Given the description of an element on the screen output the (x, y) to click on. 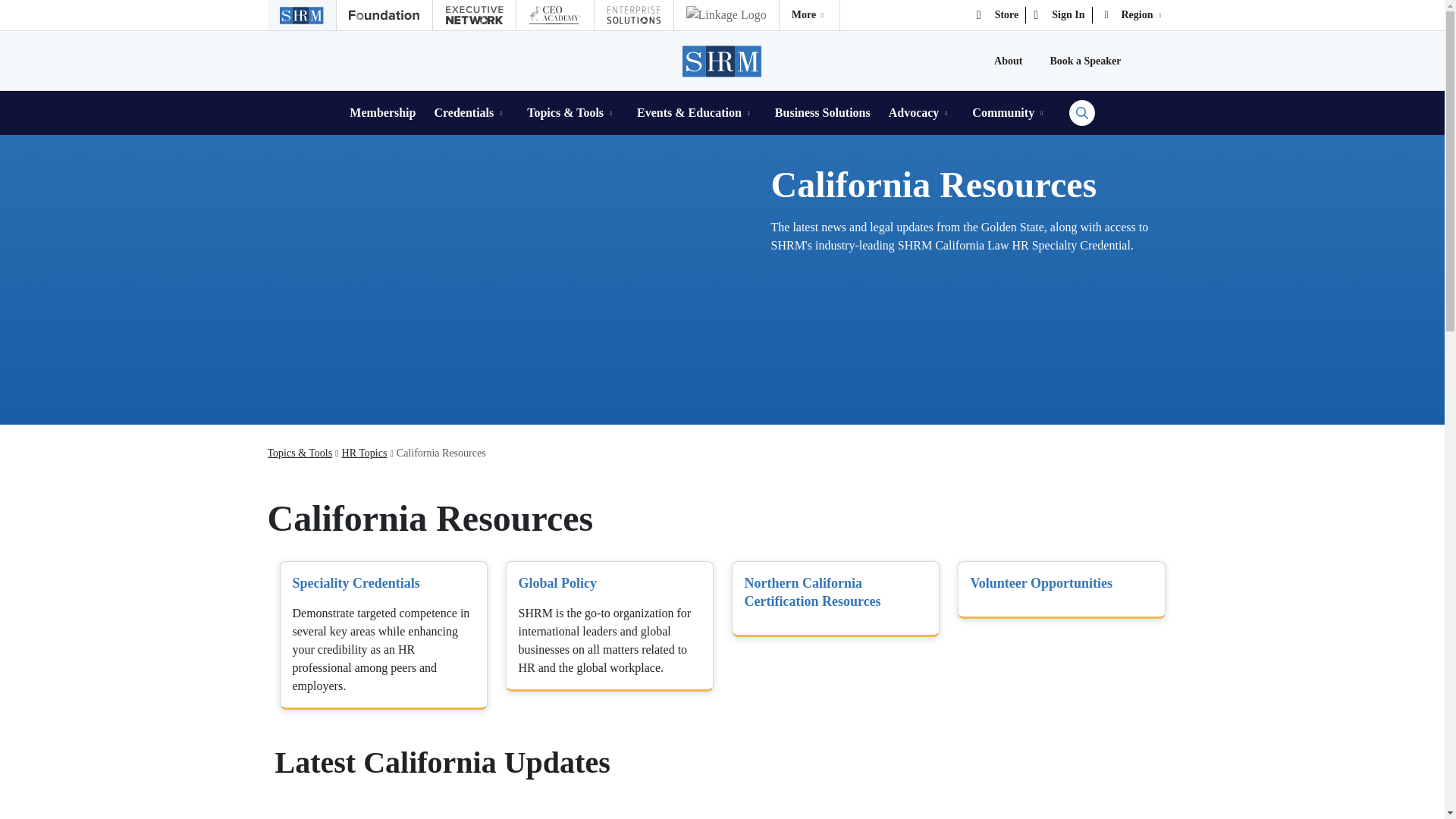
About (1008, 61)
CEO Academy (553, 15)
Foundation (384, 15)
Region (1134, 15)
Membership (381, 112)
About (1008, 61)
Executive network (473, 15)
store (997, 15)
Book a Speaker (1085, 61)
Sign In (1059, 15)
